Given the description of an element on the screen output the (x, y) to click on. 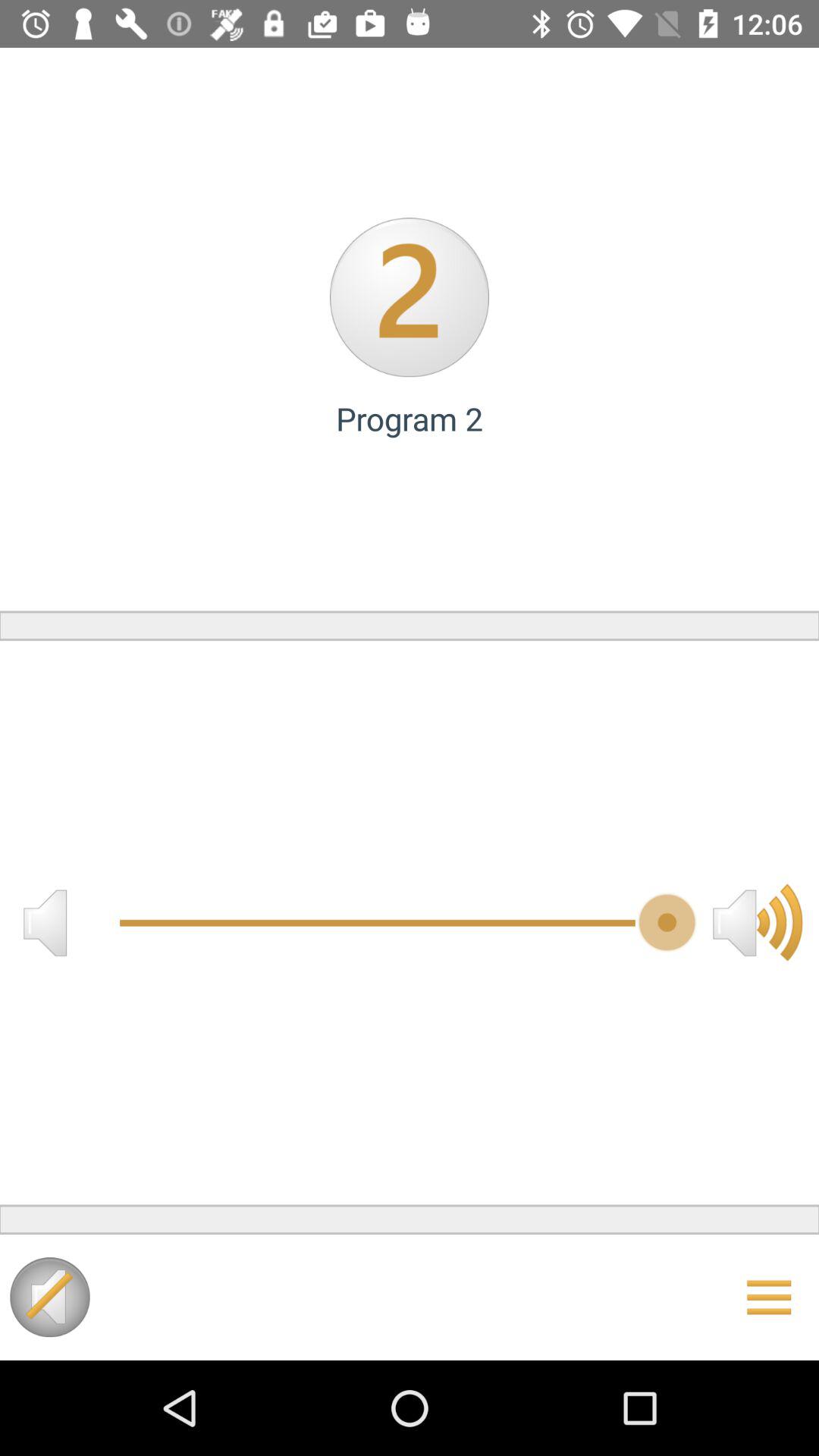
increase volume (758, 922)
